Given the description of an element on the screen output the (x, y) to click on. 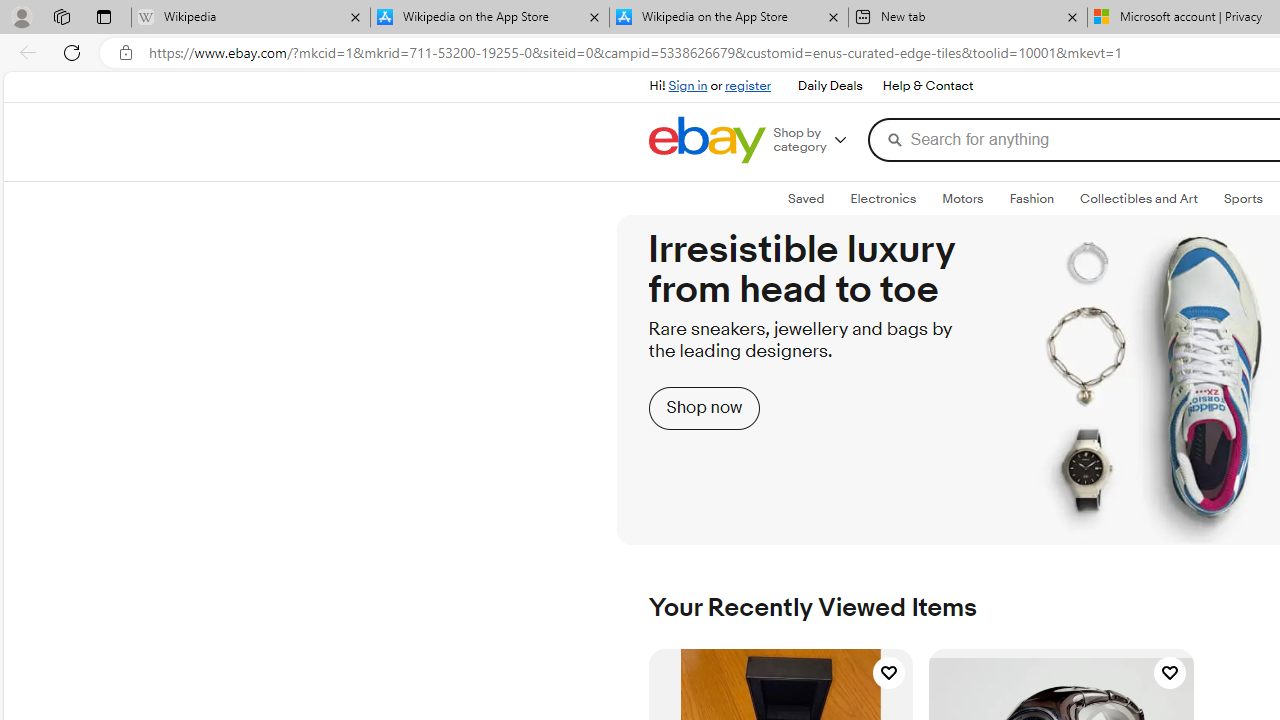
register (747, 85)
eBay Home (706, 139)
Shop by category (816, 140)
Fashion (1031, 198)
Collectibles and ArtExpand: Collectibles and Art (1138, 199)
Help & Contact (926, 85)
Help & Contact (927, 86)
Electronics (882, 198)
